Given the description of an element on the screen output the (x, y) to click on. 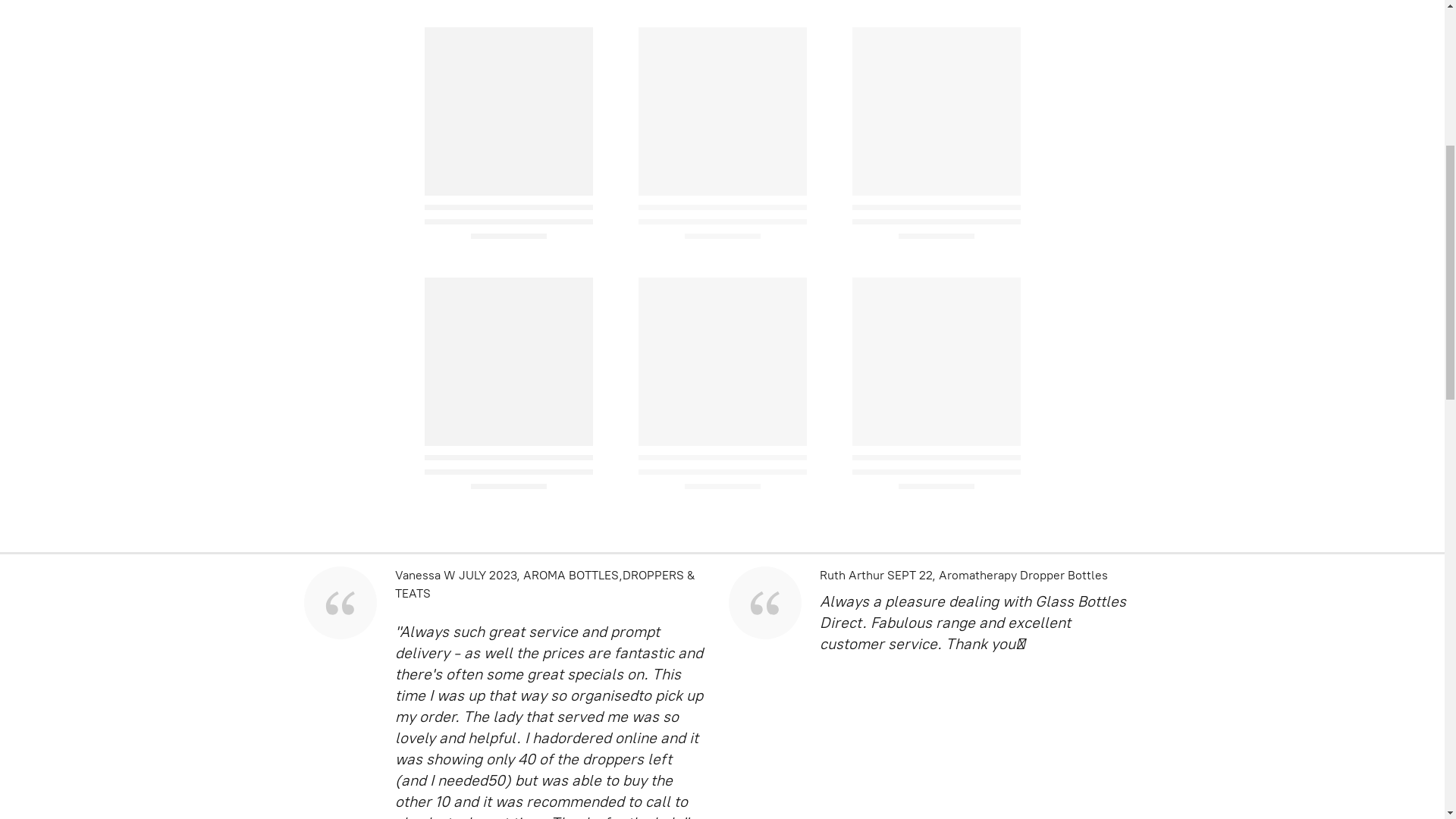
SELECT ONLINE STORE BELOW Element type: text (721, 360)
Contact us Element type: text (190, 29)
Store Element type: text (45, 29)
Get directions Element type: text (1145, 28)
Business hours Element type: text (1257, 28)
Location Element type: text (111, 29)
